Given the description of an element on the screen output the (x, y) to click on. 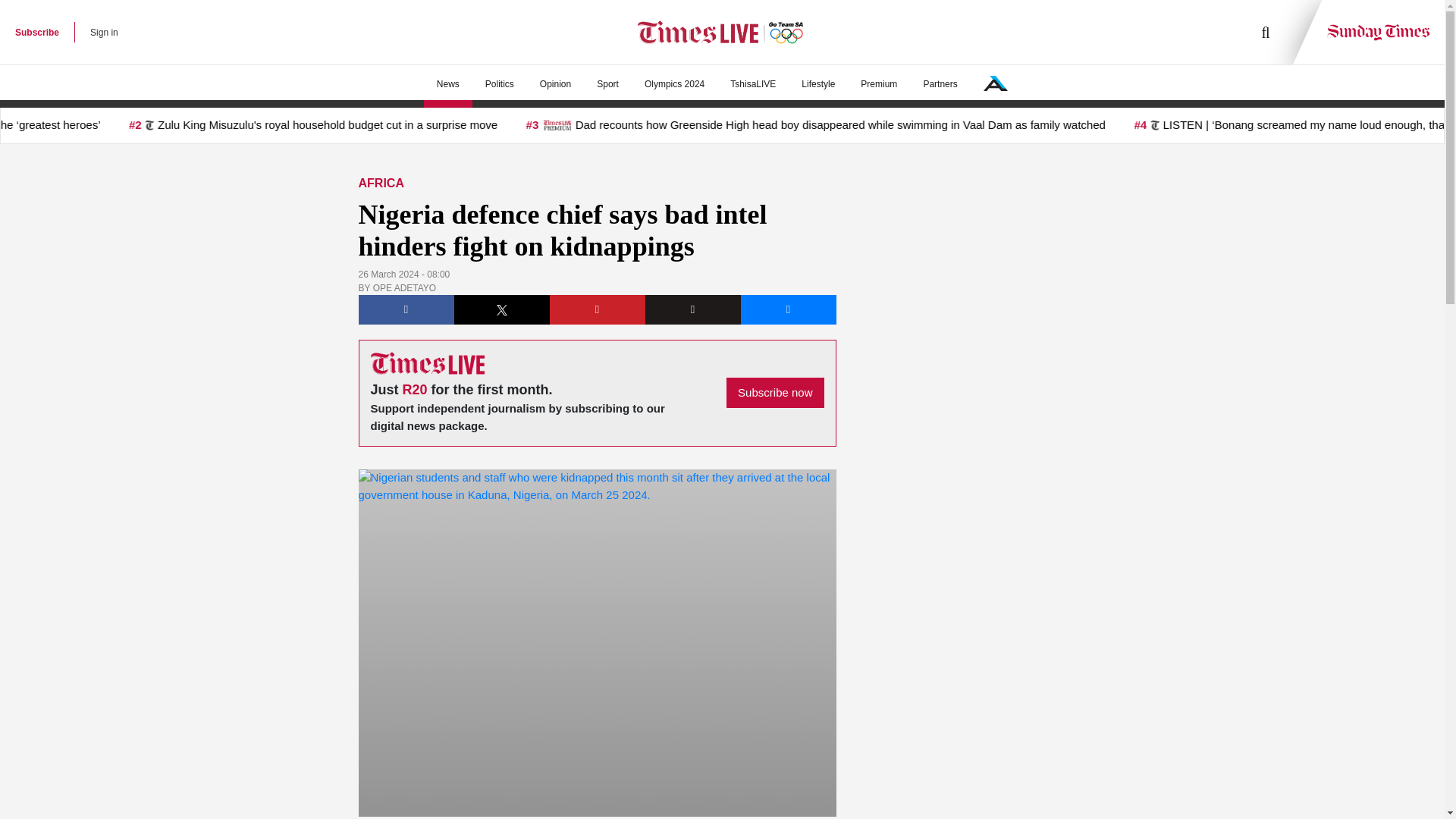
Olympics 2024 (674, 84)
Premium (878, 84)
Politics (499, 84)
Subscribe (36, 32)
Opinion (555, 84)
Lifestyle (818, 84)
TshisaLIVE (753, 84)
News (447, 84)
Partners (939, 84)
Sign in (103, 32)
